Given the description of an element on the screen output the (x, y) to click on. 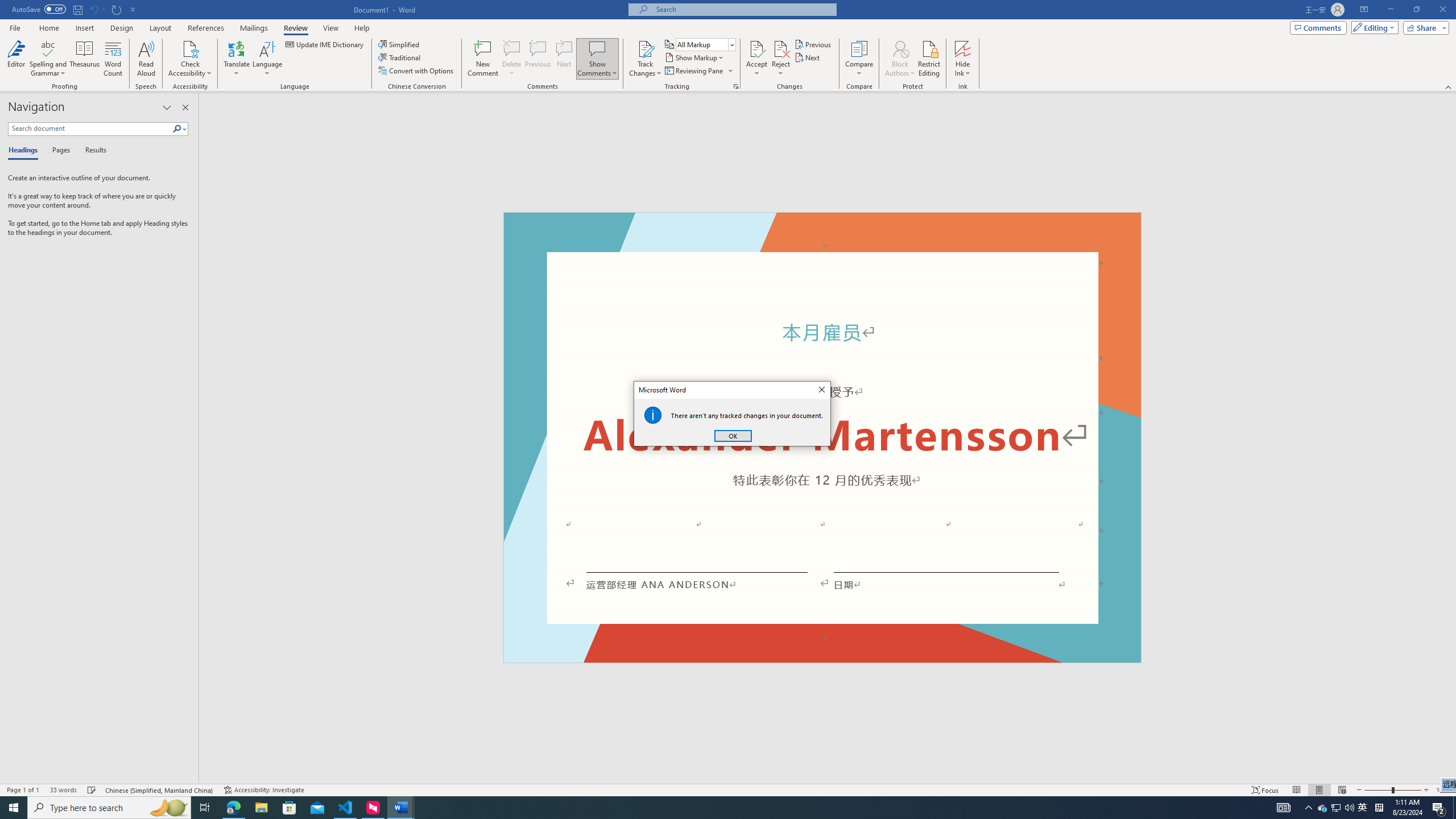
Hide Ink (962, 48)
Type here to search (108, 807)
Accept (756, 58)
Previous (813, 44)
OK (732, 435)
Show Markup (695, 56)
Thesaurus... (84, 58)
Visual Studio Code - 1 running window (345, 807)
Show desktop (1454, 807)
Close pane (185, 107)
Change Tracking Options... (735, 85)
Read Mode (1296, 790)
Layout (160, 28)
Insert (83, 28)
Ribbon Display Options (1364, 9)
